Given the description of an element on the screen output the (x, y) to click on. 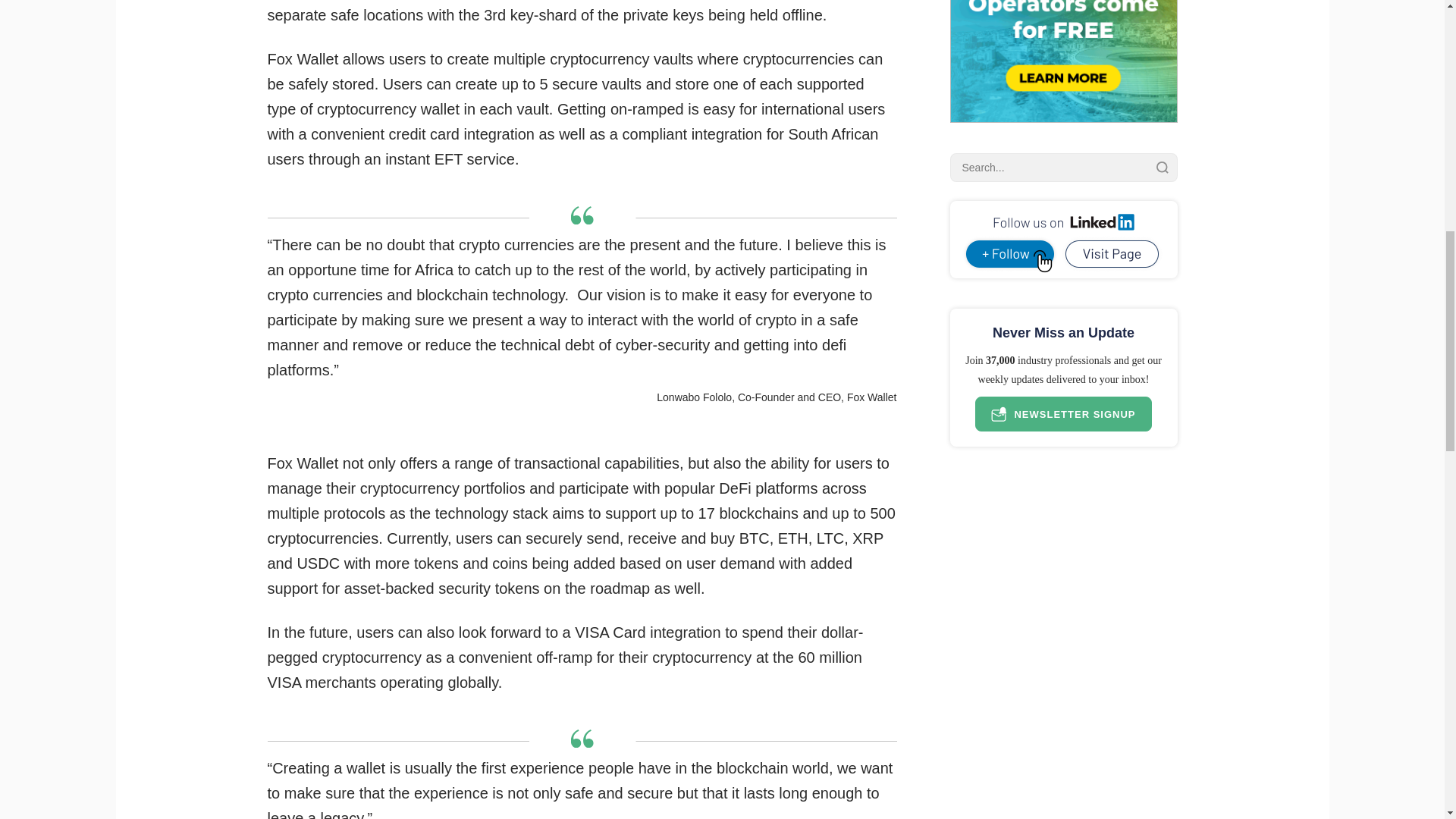
NEWSLETTER SIGNUP (1063, 413)
Search (1162, 167)
Search (1162, 167)
